Given the description of an element on the screen output the (x, y) to click on. 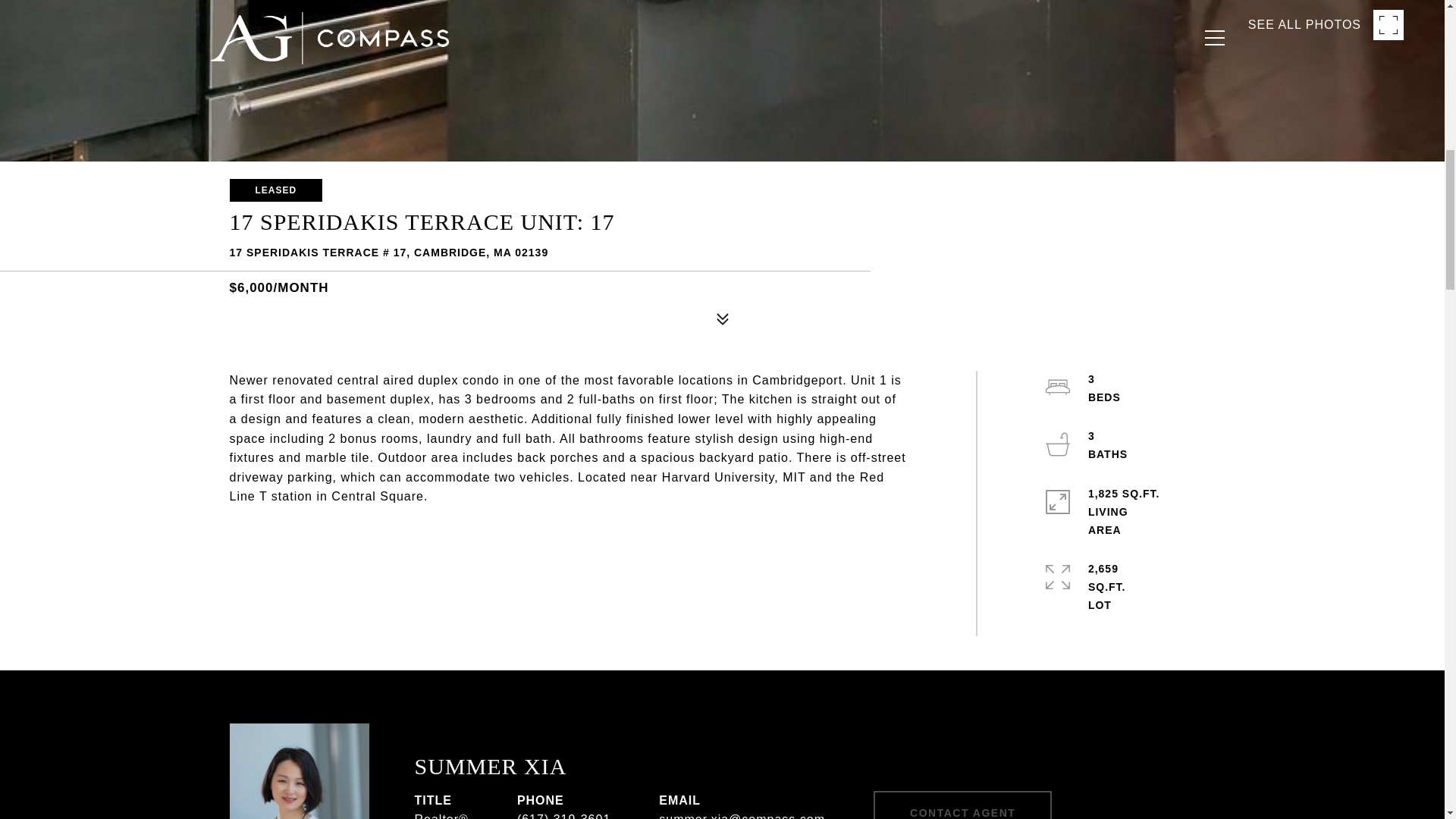
CONTACT AGENT (962, 805)
